Given the description of an element on the screen output the (x, y) to click on. 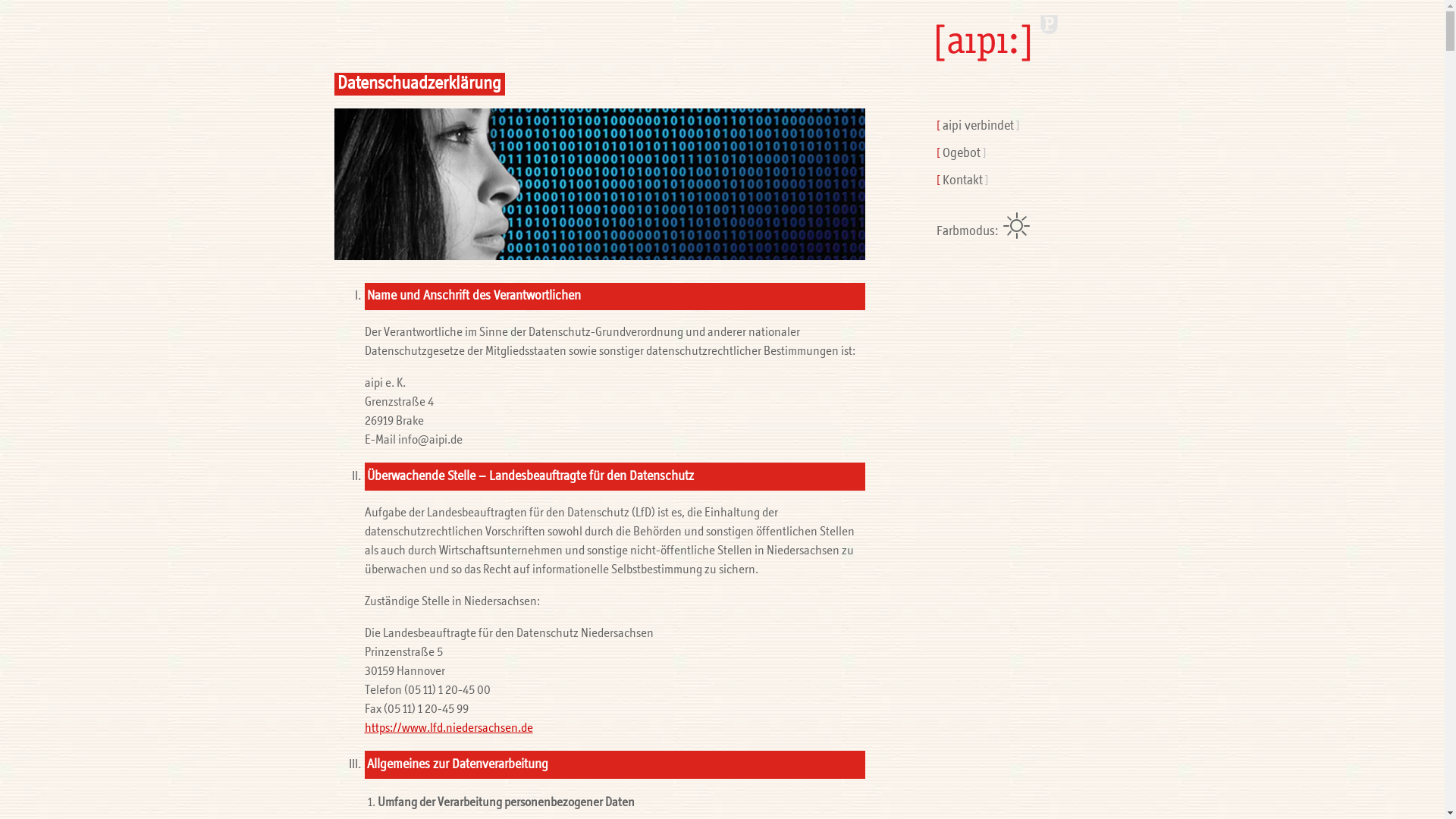
https://www.lfd.niedersachsen.de Element type: text (448, 727)
Logo aipi: verbindet. Element type: hover (1011, 50)
Kontakt Element type: text (961, 180)
aipi verbindet Element type: text (977, 125)
Ogebot Element type: text (960, 153)
Frau und digitale Daten; Quelle: Gerd Altmann auf Pixabay Element type: hover (598, 184)
